Given the description of an element on the screen output the (x, y) to click on. 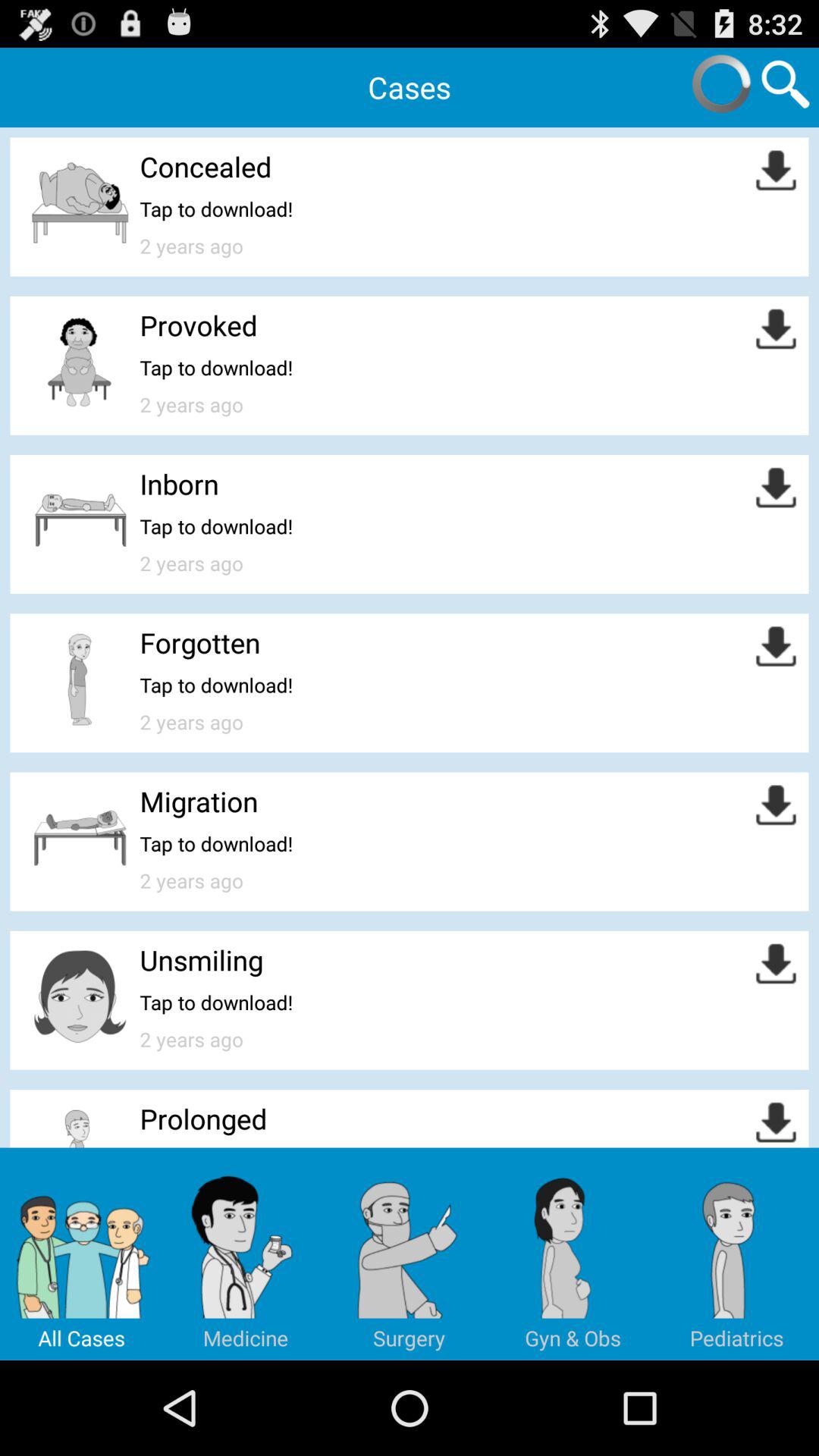
click icon above tap to download! (205, 166)
